Given the description of an element on the screen output the (x, y) to click on. 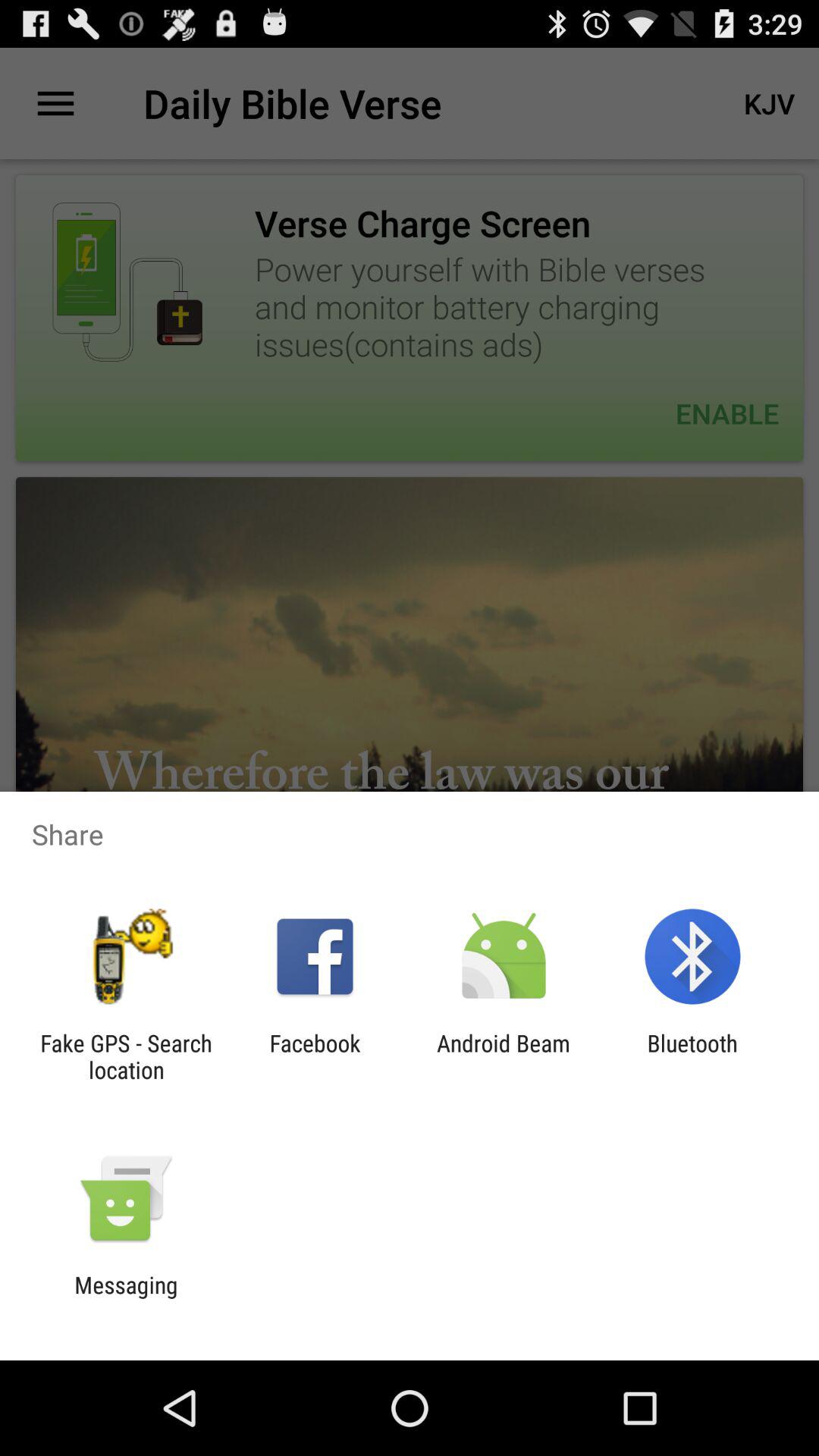
tap the app next to the facebook icon (125, 1056)
